Given the description of an element on the screen output the (x, y) to click on. 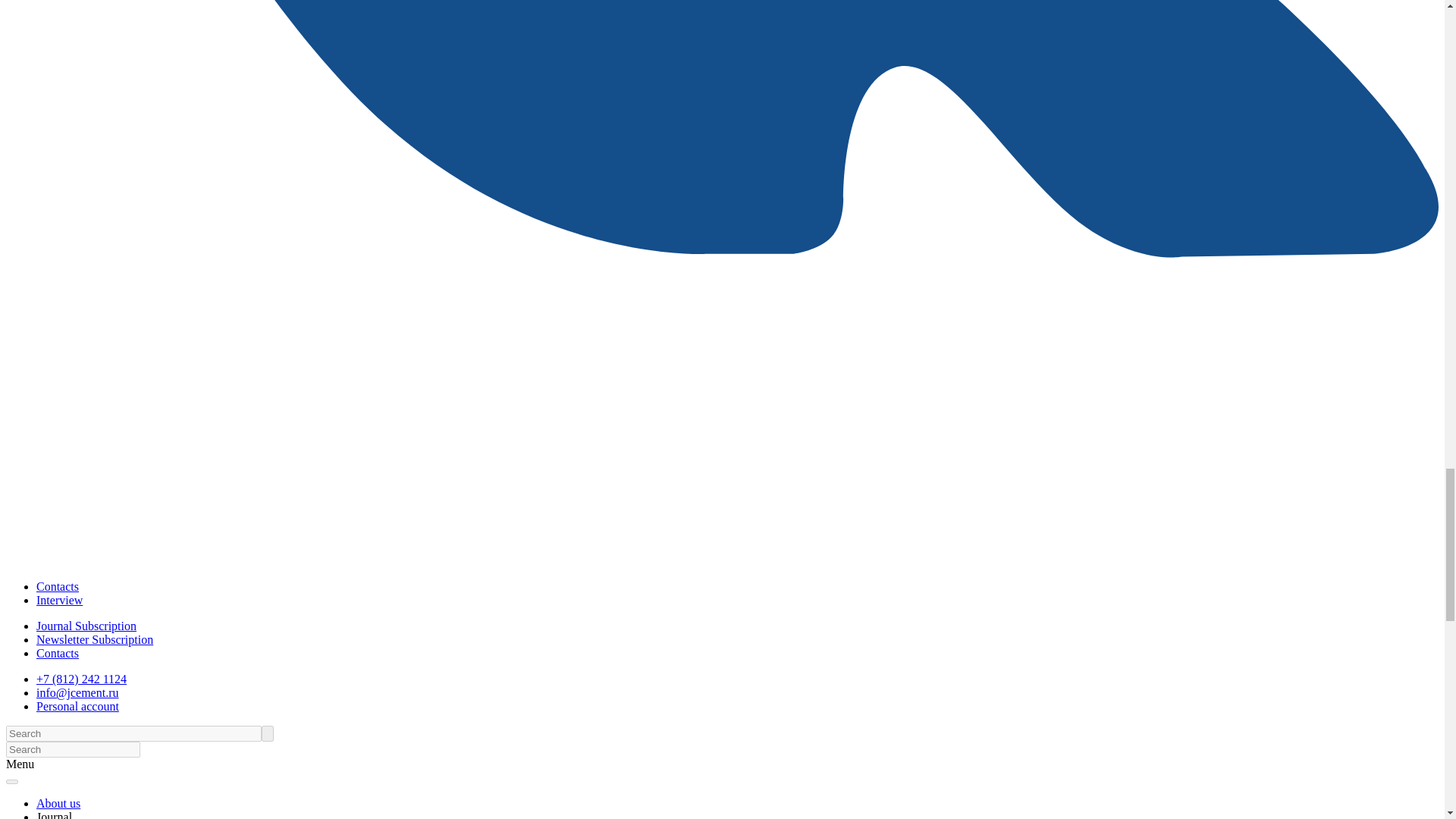
Journal Subscription (86, 625)
Contacts (57, 653)
Newsletter Subscription (94, 639)
About us (58, 802)
Interview (59, 599)
Personal account (77, 706)
Contacts (57, 585)
